Given the description of an element on the screen output the (x, y) to click on. 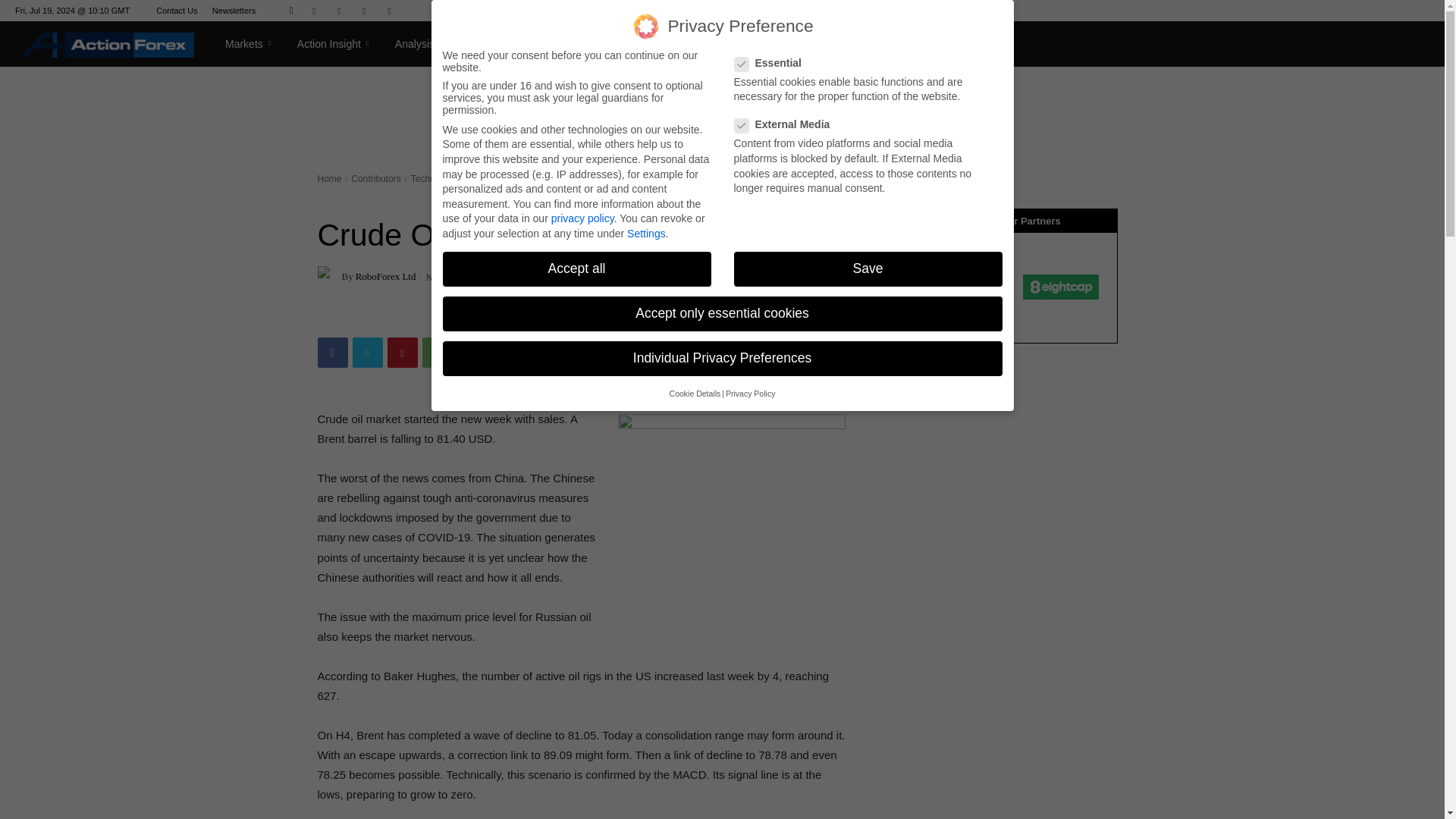
RSS (363, 10)
Mail (338, 10)
Twitter (388, 10)
Facebook (313, 10)
Action Forex (106, 44)
